Given the description of an element on the screen output the (x, y) to click on. 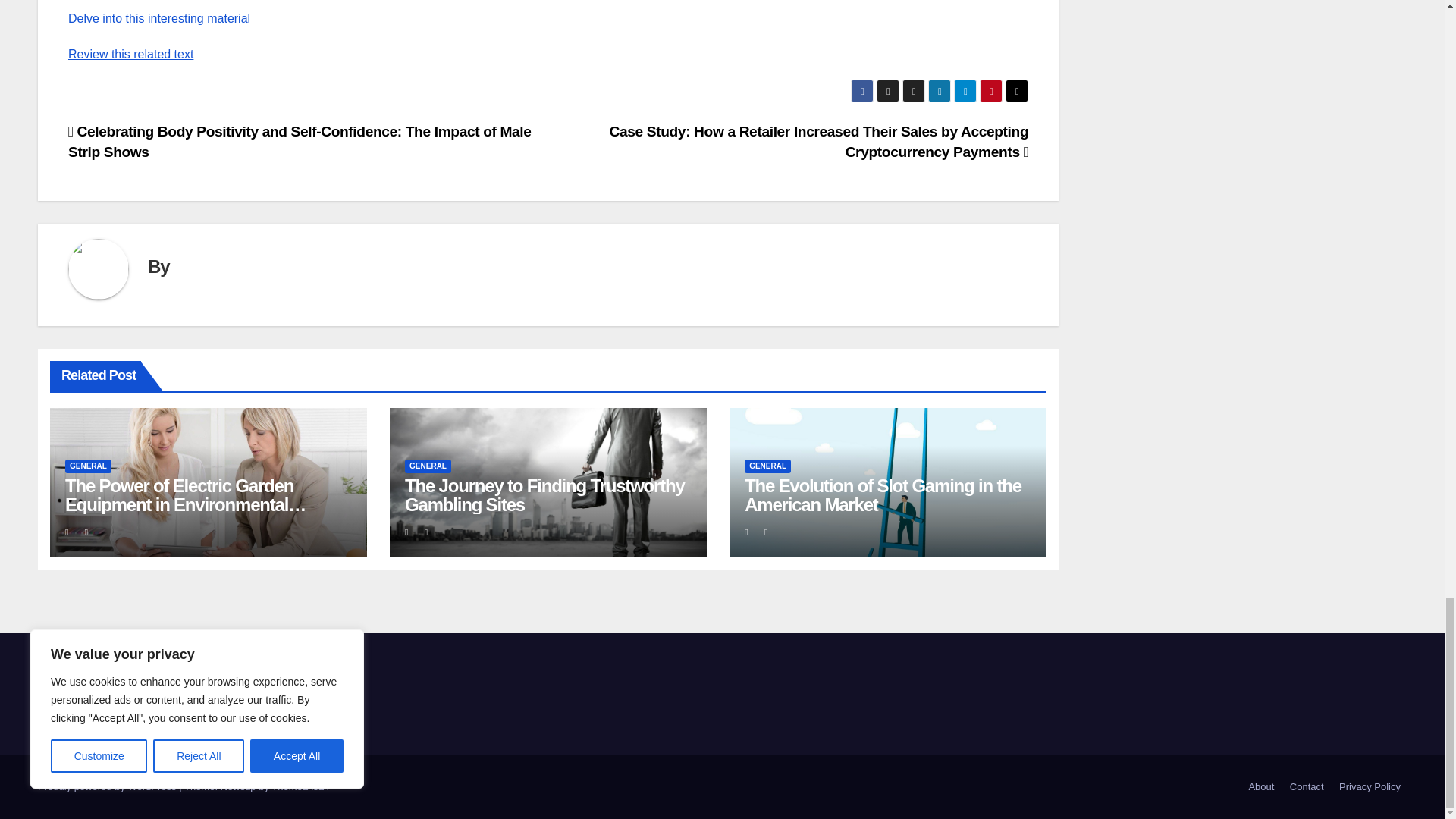
Contact (1307, 786)
Review this related text (130, 53)
About (1260, 786)
Privacy Policy (1369, 786)
Delve into this interesting material (159, 18)
